Given the description of an element on the screen output the (x, y) to click on. 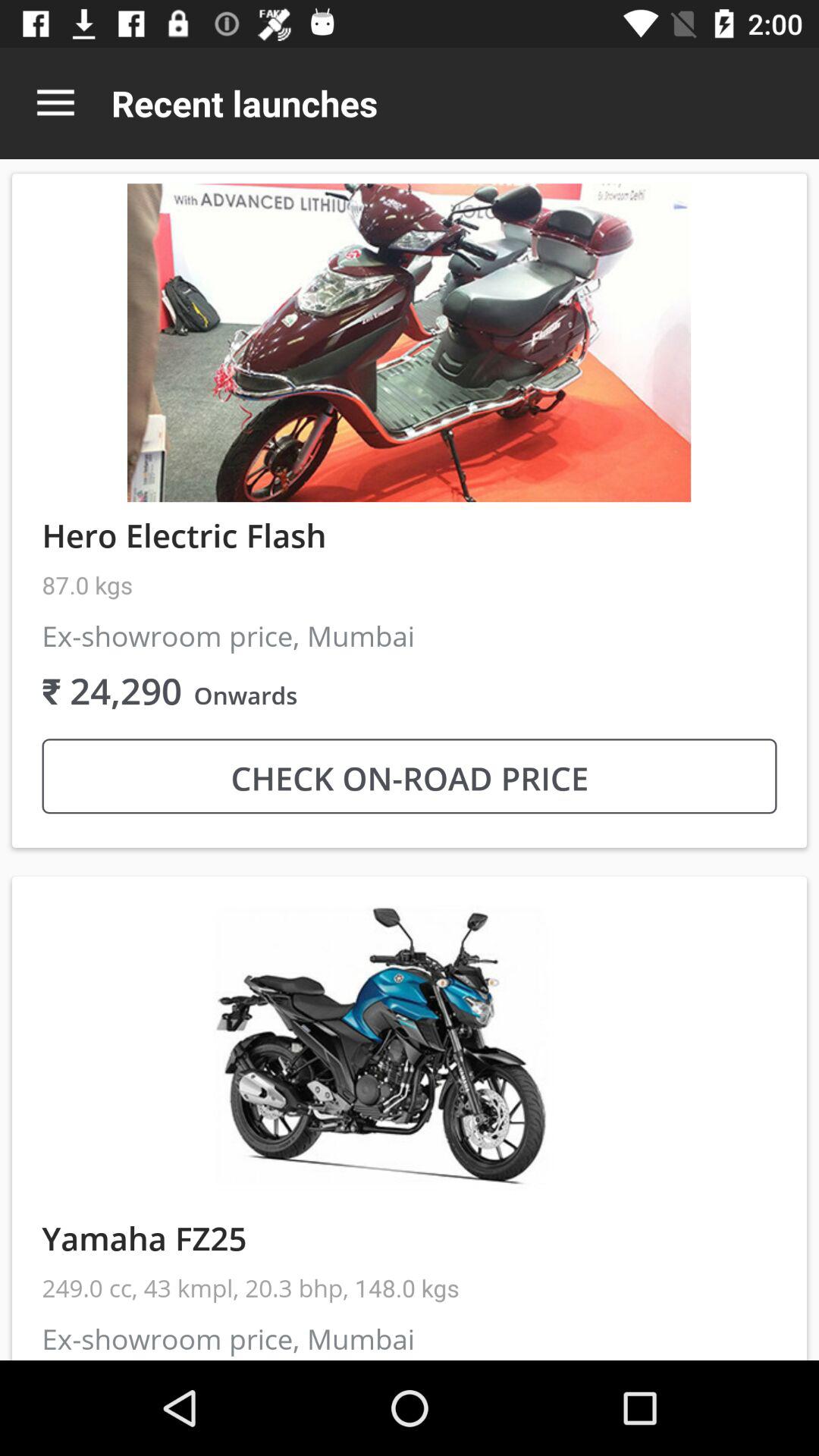
scroll until the check on road icon (409, 775)
